Given the description of an element on the screen output the (x, y) to click on. 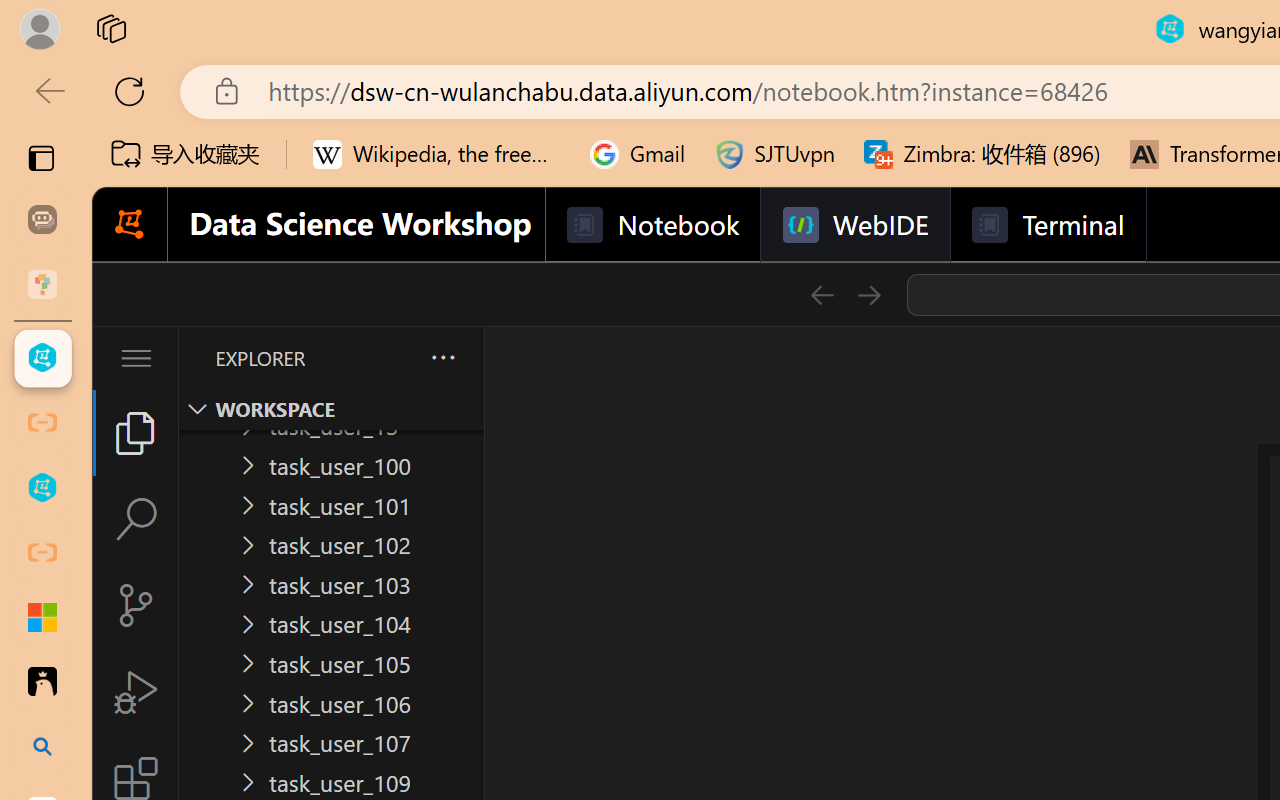
Source Control (Ctrl+Shift+G) (135, 604)
Views and More Actions... (442, 357)
WebIDE (854, 225)
Run and Debug (Ctrl+Shift+D) (135, 692)
